Given the description of an element on the screen output the (x, y) to click on. 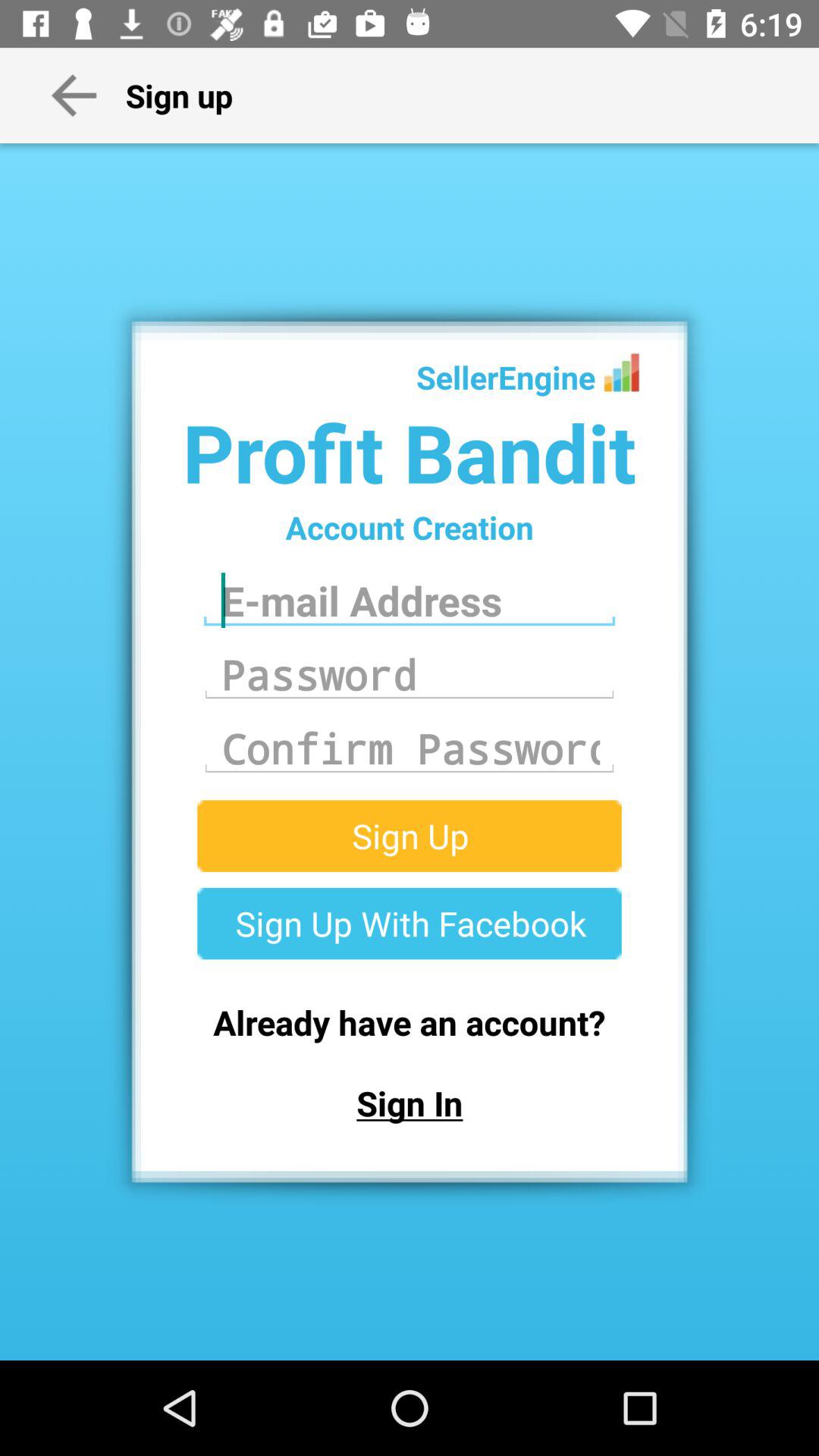
enter e-mail (409, 600)
